Given the description of an element on the screen output the (x, y) to click on. 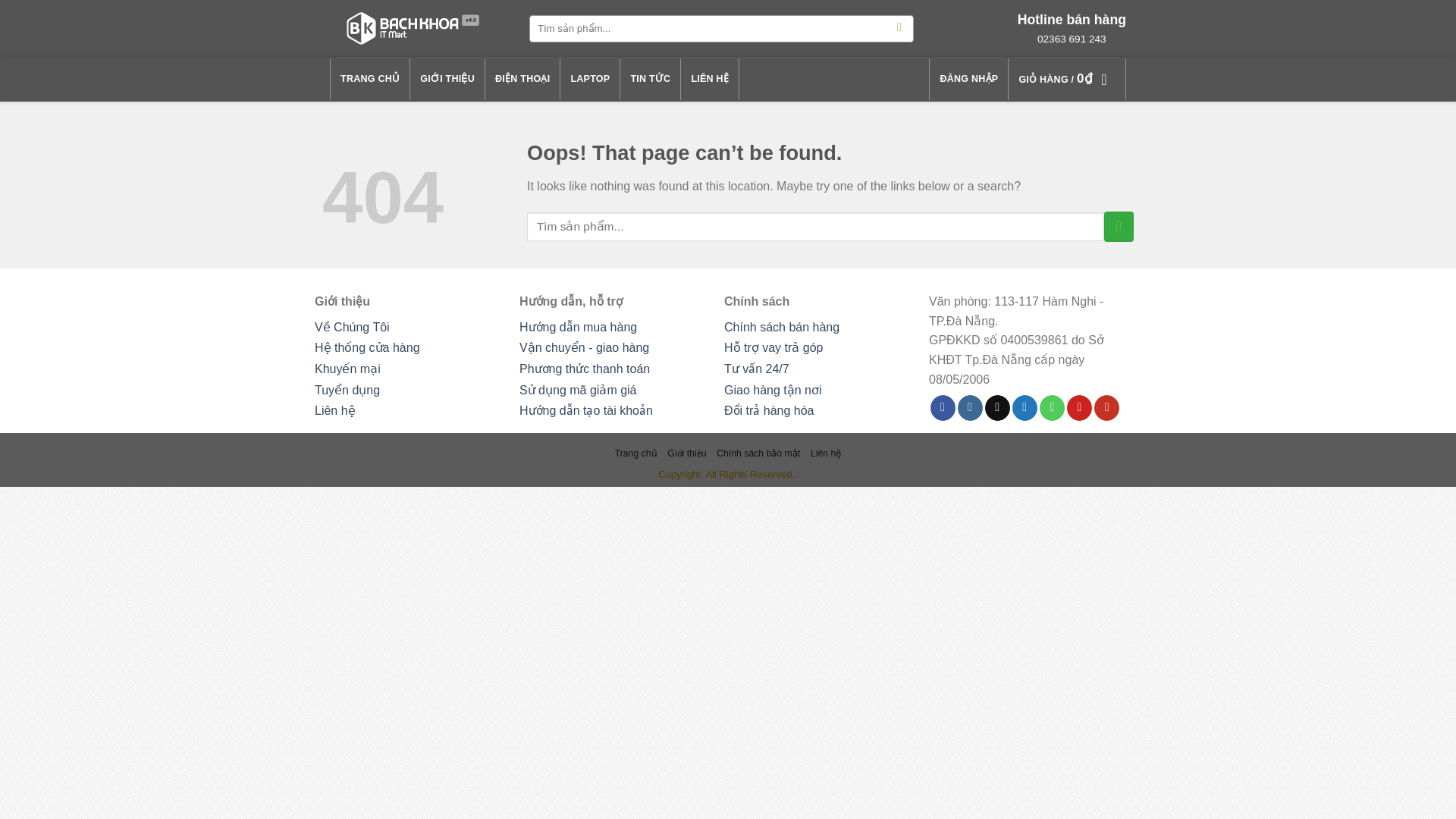
LAPTOP (590, 78)
